Given the description of an element on the screen output the (x, y) to click on. 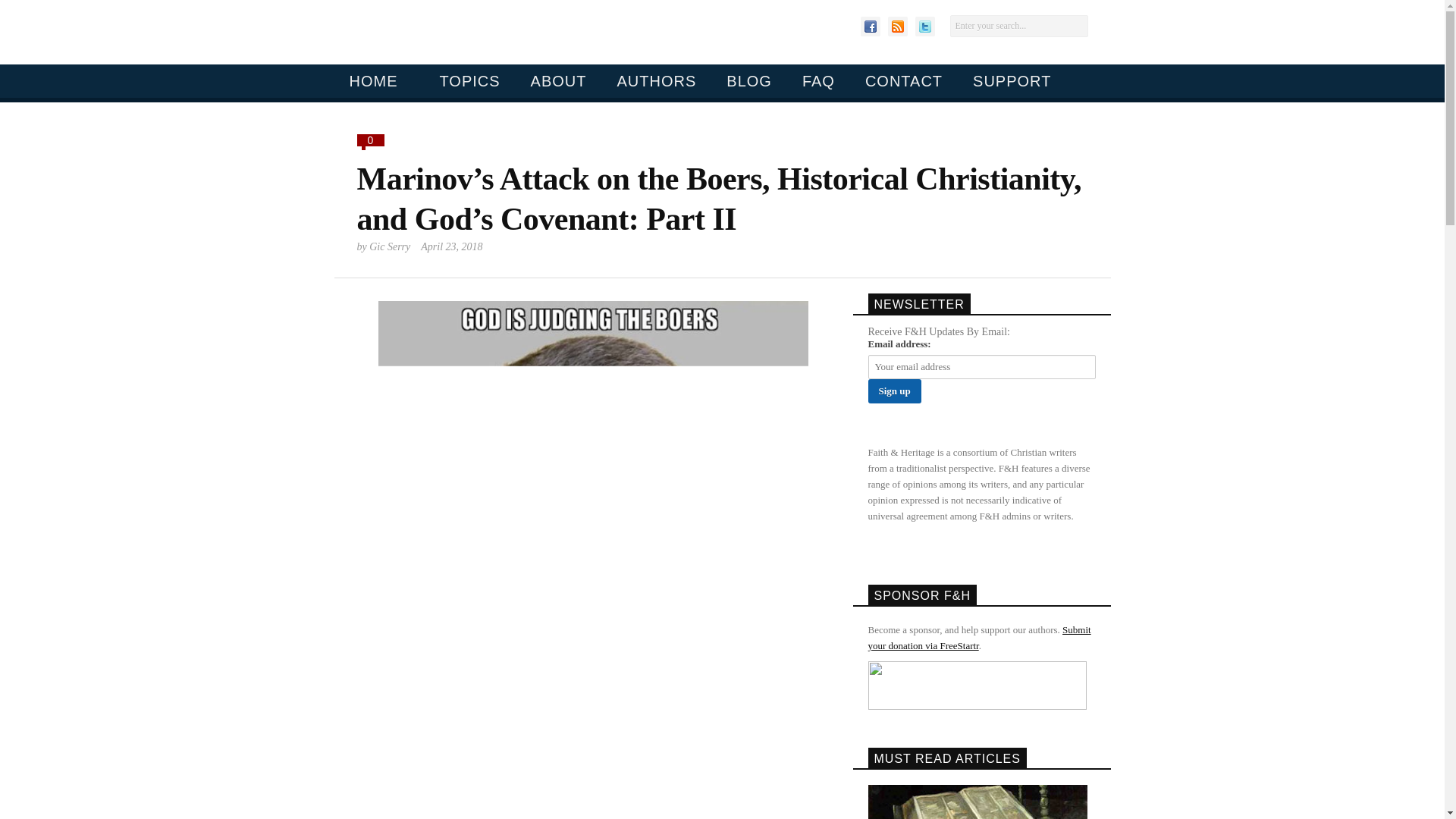
Posts by Gic Serry (389, 246)
Enter your search... (1018, 25)
Sign up (893, 391)
HOME (372, 80)
TOPICS (463, 80)
